Given the description of an element on the screen output the (x, y) to click on. 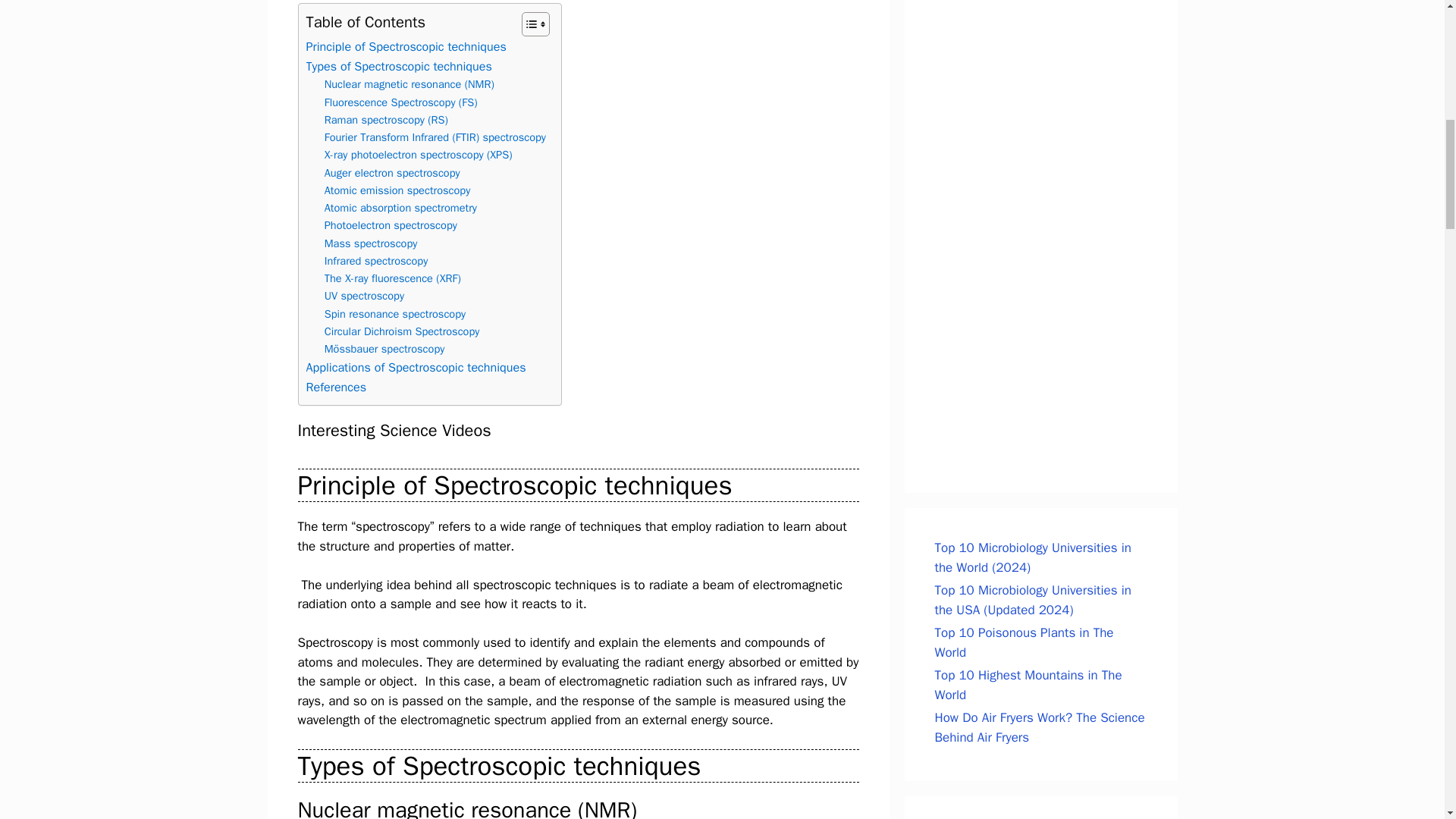
Photoelectron spectroscopy (390, 225)
Atomic absorption spectrometry (400, 208)
Auger electron spectroscopy  (393, 172)
Principle of Spectroscopic techniques (405, 46)
Mass spectroscopy (370, 243)
Atomic emission spectroscopy (397, 190)
Atomic emission spectroscopy (397, 190)
Principle of Spectroscopic techniques (405, 46)
Types of Spectroscopic techniques (398, 66)
